Given the description of an element on the screen output the (x, y) to click on. 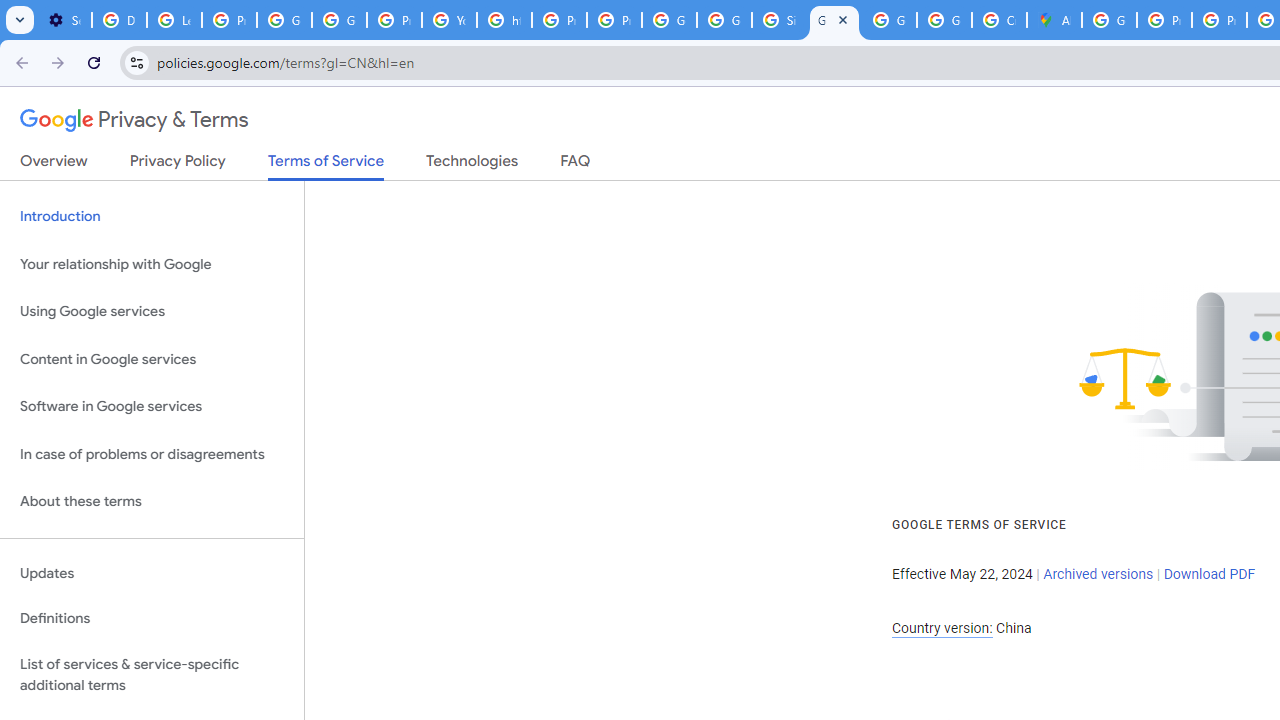
Download PDF (1209, 574)
Privacy Help Center - Policies Help (1163, 20)
Sign in - Google Accounts (779, 20)
https://scholar.google.com/ (504, 20)
List of services & service-specific additional terms (152, 674)
Country version: (942, 628)
Learn how to find your photos - Google Photos Help (174, 20)
